Given the description of an element on the screen output the (x, y) to click on. 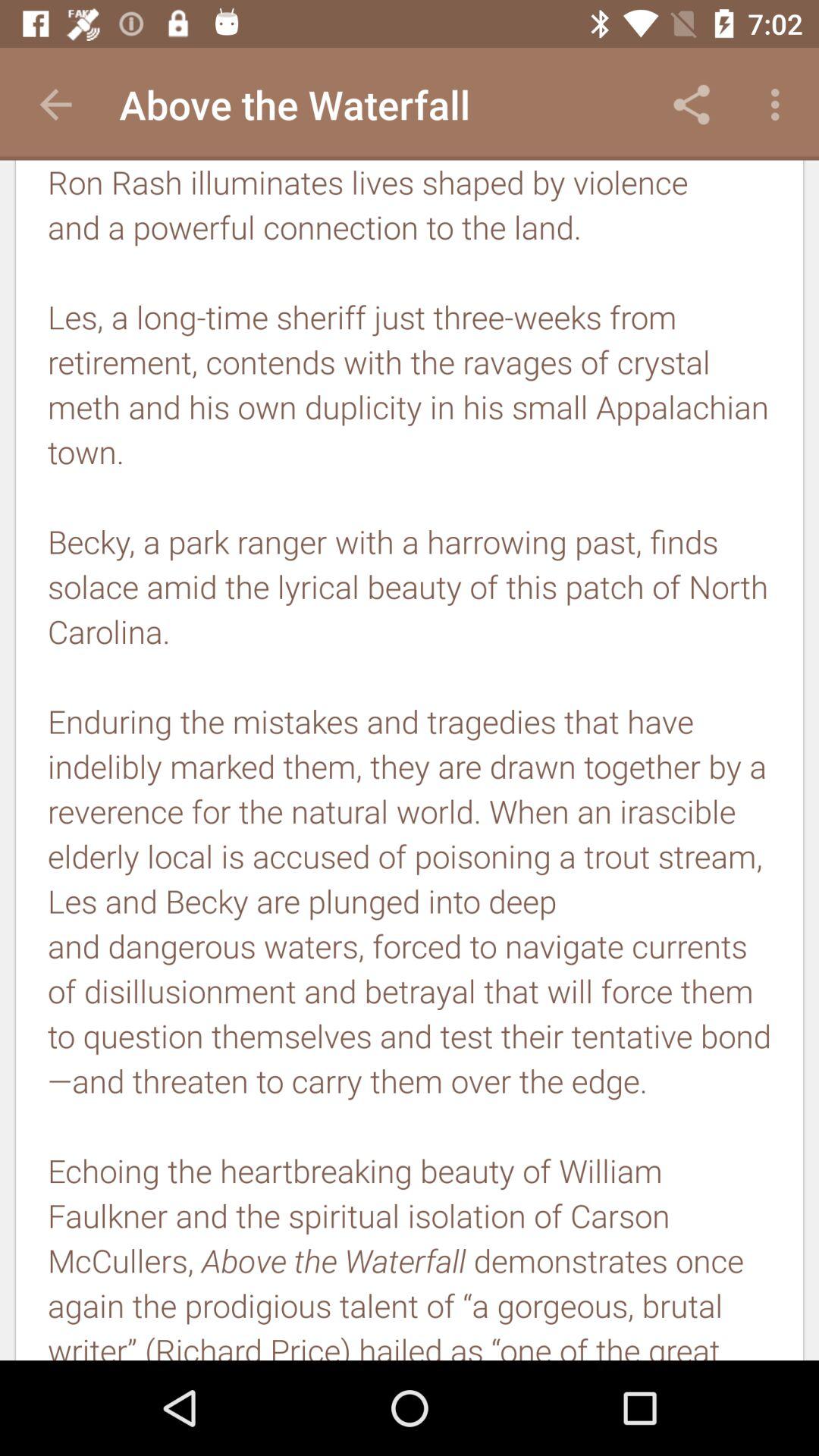
tap the app next to the above the waterfall icon (55, 104)
